Given the description of an element on the screen output the (x, y) to click on. 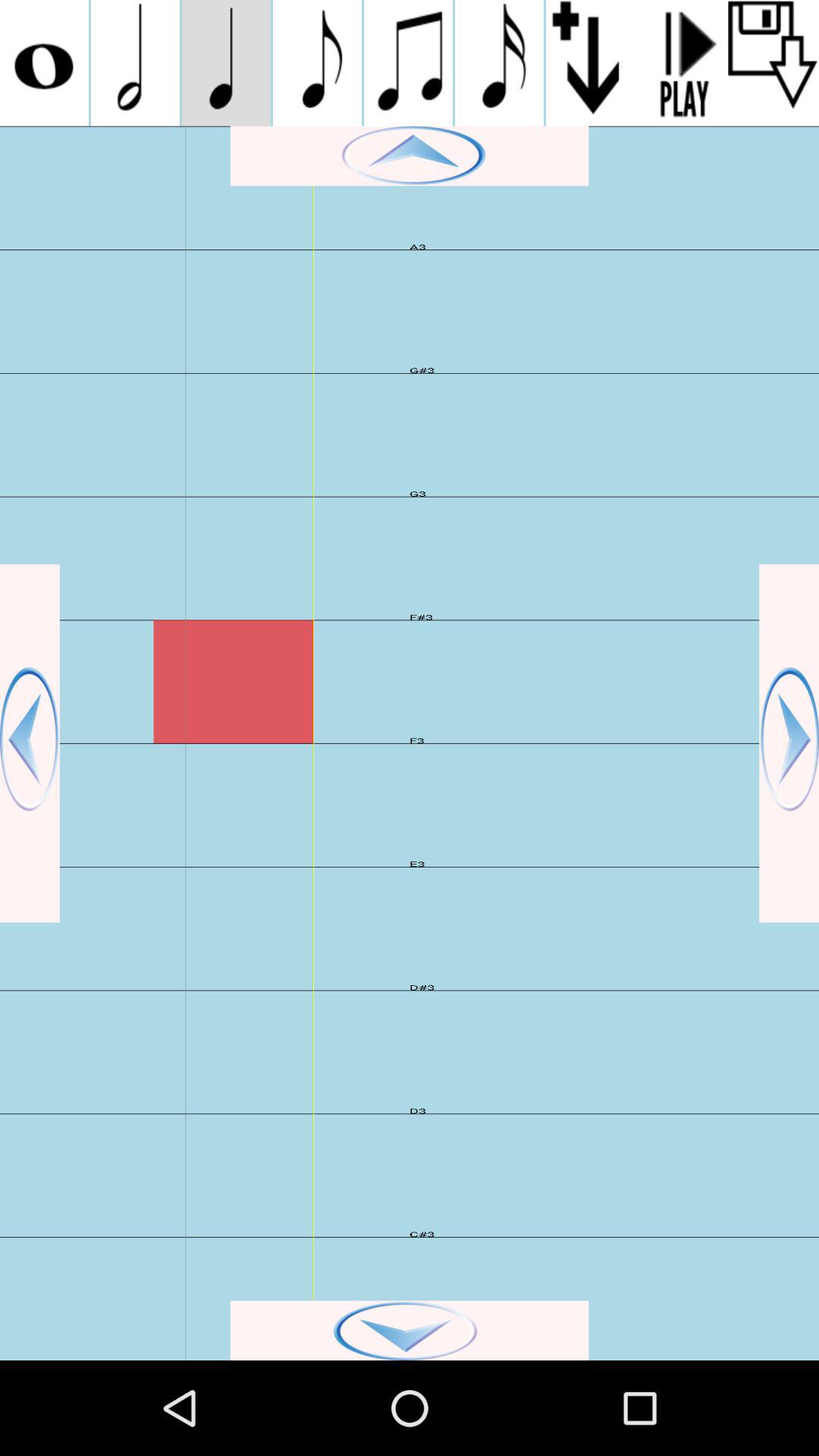
forward (789, 742)
